Given the description of an element on the screen output the (x, y) to click on. 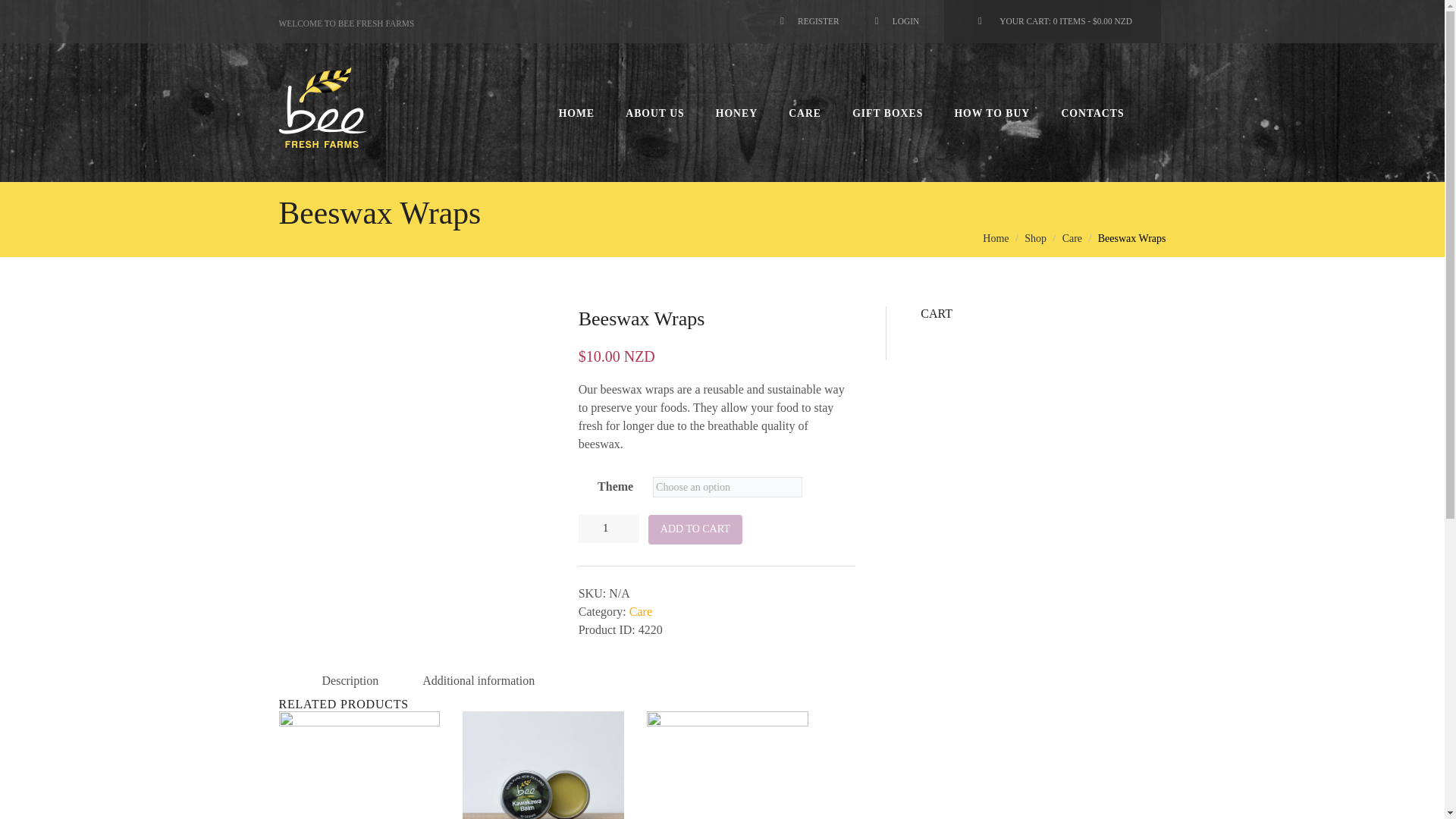
LOGIN (894, 15)
CARE (805, 113)
Home (995, 238)
HOME (576, 113)
REGISTER (807, 15)
GIFT BOXES (888, 113)
1 (608, 529)
HONEY (736, 113)
ABOUT US (655, 113)
CONTACTS (1092, 113)
